Given the description of an element on the screen output the (x, y) to click on. 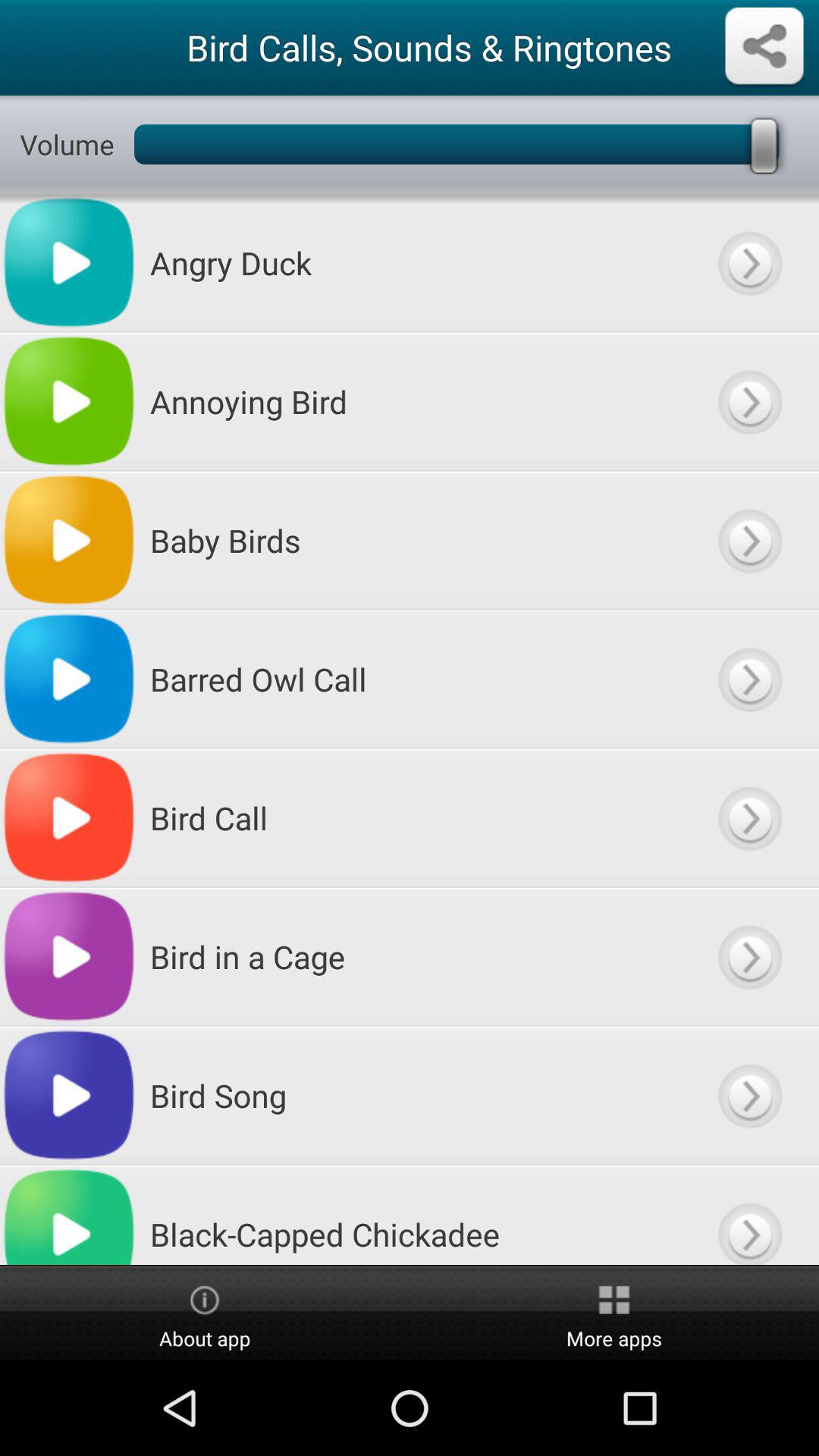
open information on song (749, 401)
